Given the description of an element on the screen output the (x, y) to click on. 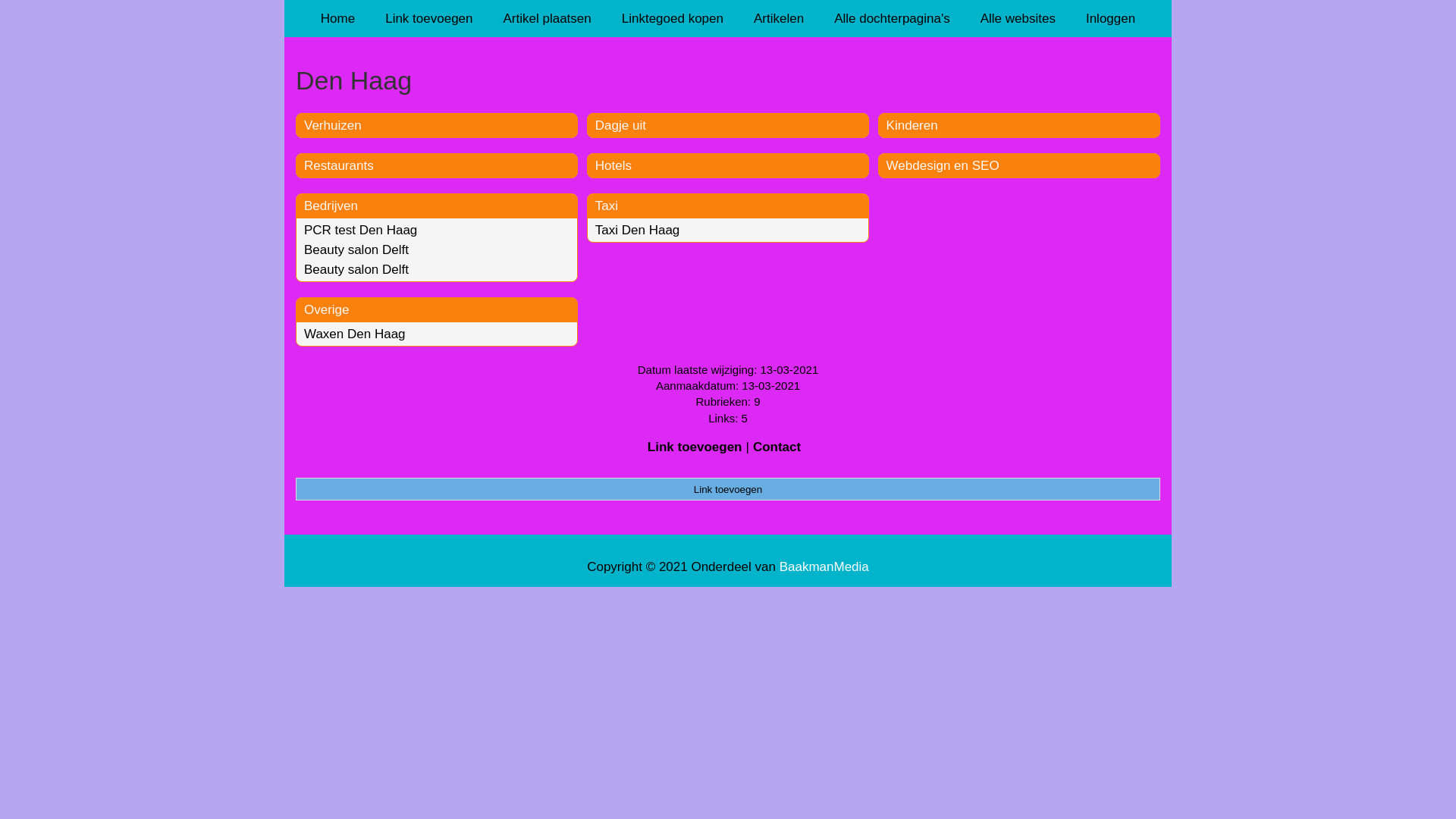
Link toevoegen Element type: text (428, 18)
Bedrijven Element type: text (330, 205)
Den Haag Element type: text (727, 80)
Link toevoegen Element type: text (727, 488)
Overige Element type: text (326, 309)
Inloggen Element type: text (1110, 18)
Alle dochterpagina's Element type: text (892, 18)
Dagje uit Element type: text (620, 125)
Artikelen Element type: text (778, 18)
Kinderen Element type: text (912, 125)
Restaurants Element type: text (338, 165)
Taxi Den Haag Element type: text (637, 229)
Taxi Element type: text (606, 205)
Beauty salon Delft Element type: text (356, 269)
Hotels Element type: text (613, 165)
Contact Element type: text (776, 446)
Home Element type: text (337, 18)
Artikel plaatsen Element type: text (547, 18)
PCR test Den Haag Element type: text (360, 229)
Beauty salon Delft Element type: text (356, 249)
Waxen Den Haag Element type: text (354, 333)
BaakmanMedia Element type: text (824, 566)
Verhuizen Element type: text (332, 125)
Linktegoed kopen Element type: text (672, 18)
Alle websites Element type: text (1017, 18)
Webdesign en SEO Element type: text (942, 165)
Link toevoegen Element type: text (694, 446)
